Given the description of an element on the screen output the (x, y) to click on. 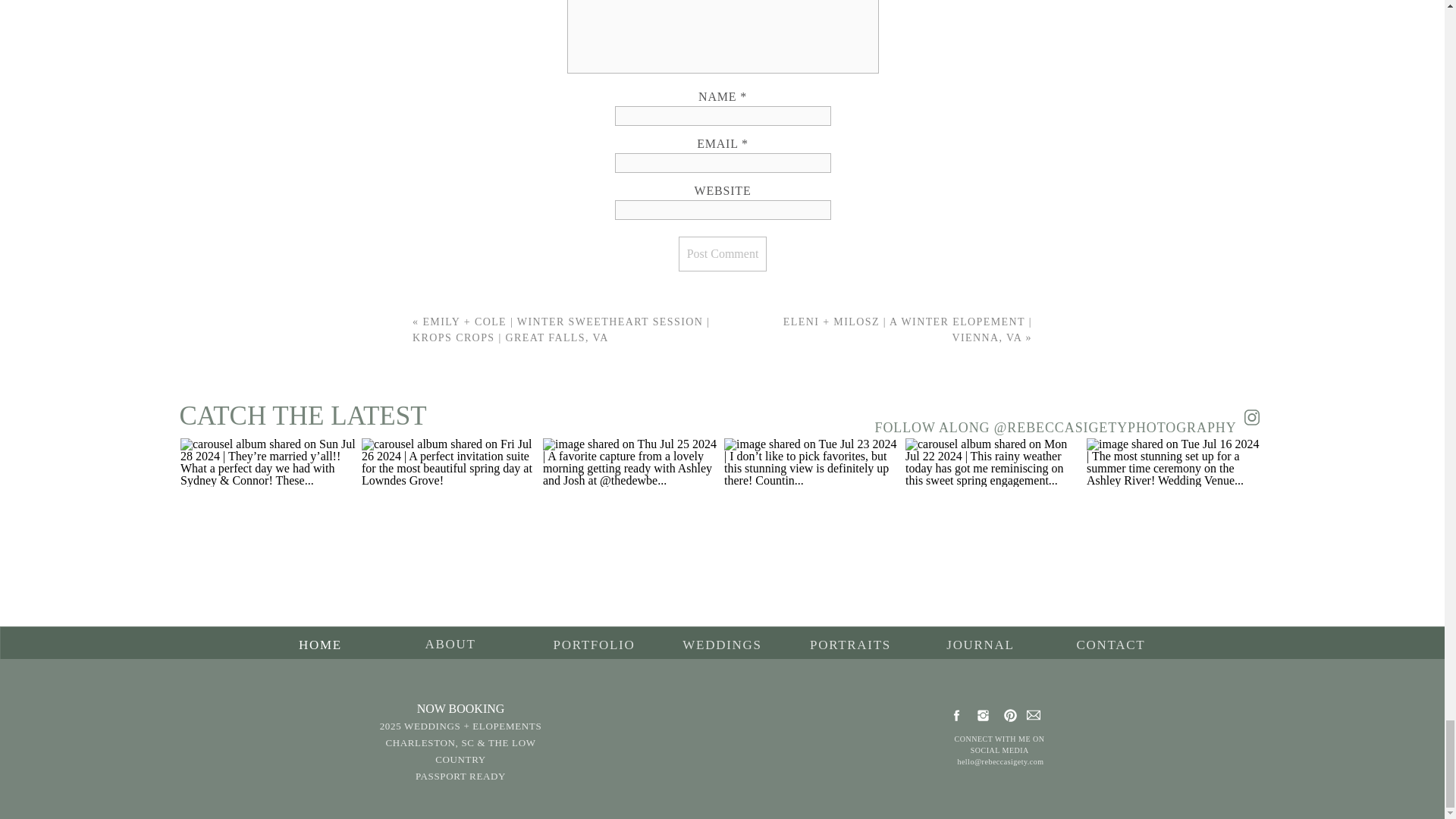
Post Comment (722, 253)
Post Comment (722, 253)
